Given the description of an element on the screen output the (x, y) to click on. 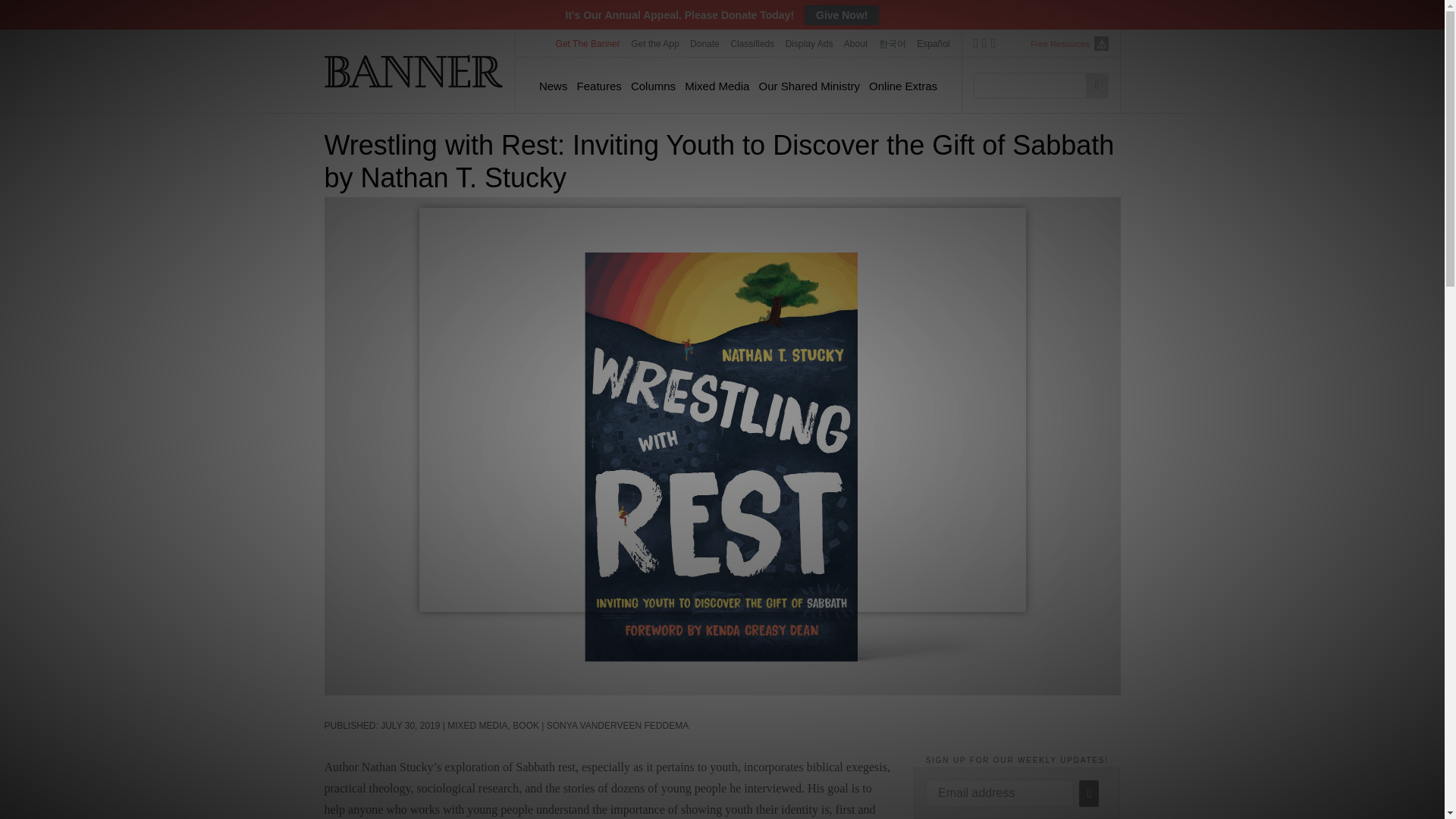
Home (413, 70)
About (855, 43)
RSS (993, 45)
Online Extras (903, 85)
Submit (1088, 793)
Our Shared Ministry (809, 85)
crcna.org (1100, 43)
Mixed Media (716, 85)
BOOK (525, 725)
Donate (704, 43)
Display Ads (809, 43)
Columns (652, 85)
Get The Banner (587, 43)
Features (598, 85)
